Given the description of an element on the screen output the (x, y) to click on. 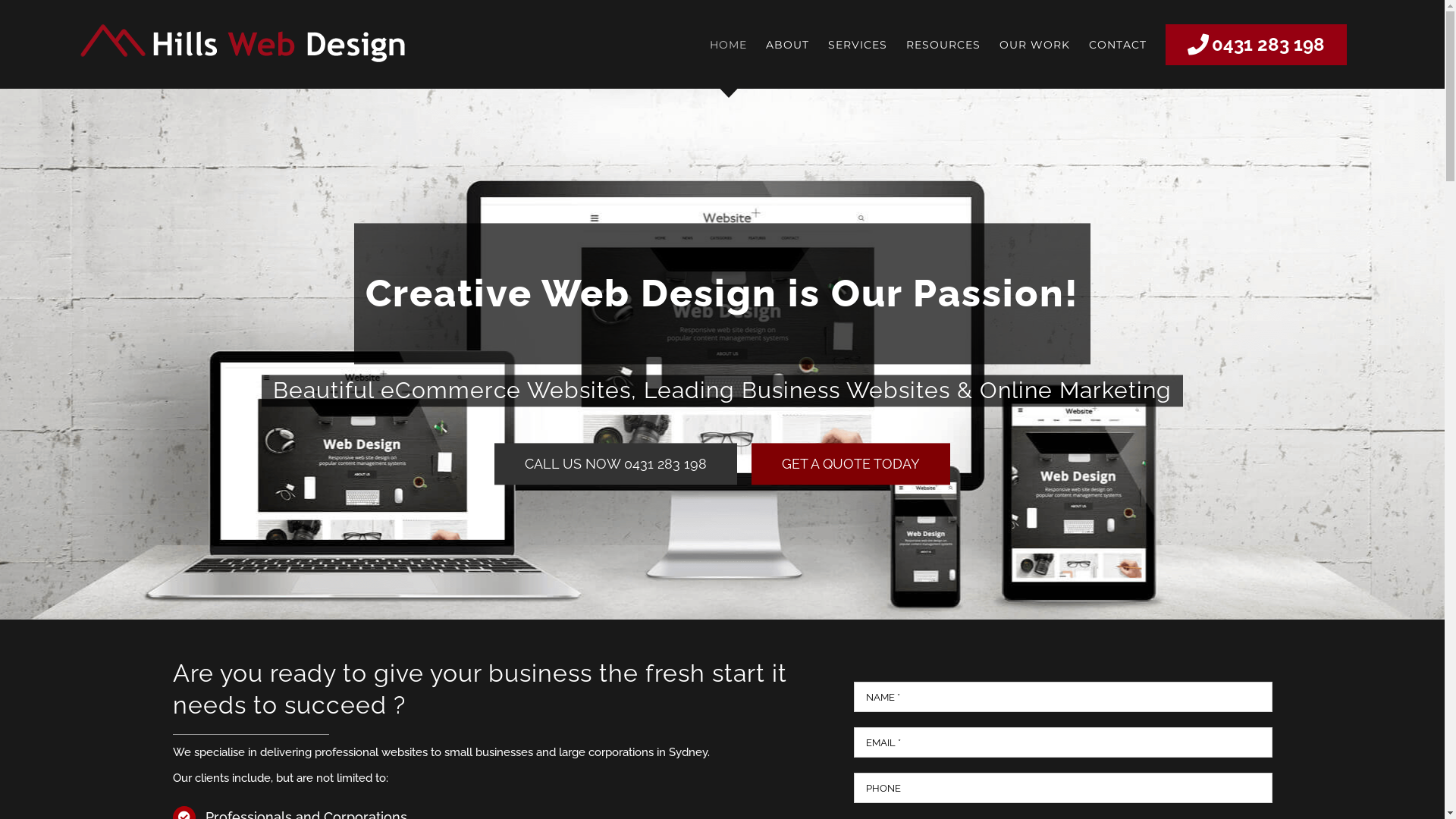
SERVICES Element type: text (857, 44)
RESOURCES Element type: text (943, 44)
CONTACT Element type: text (1117, 44)
CALL US NOW 0431 283 198 Element type: text (615, 464)
ABOUT Element type: text (787, 44)
 0431 283 198 Element type: text (1255, 44)
HOME Element type: text (727, 44)
OUR WORK Element type: text (1034, 44)
GET A QUOTE TODAY Element type: text (850, 464)
